Given the description of an element on the screen output the (x, y) to click on. 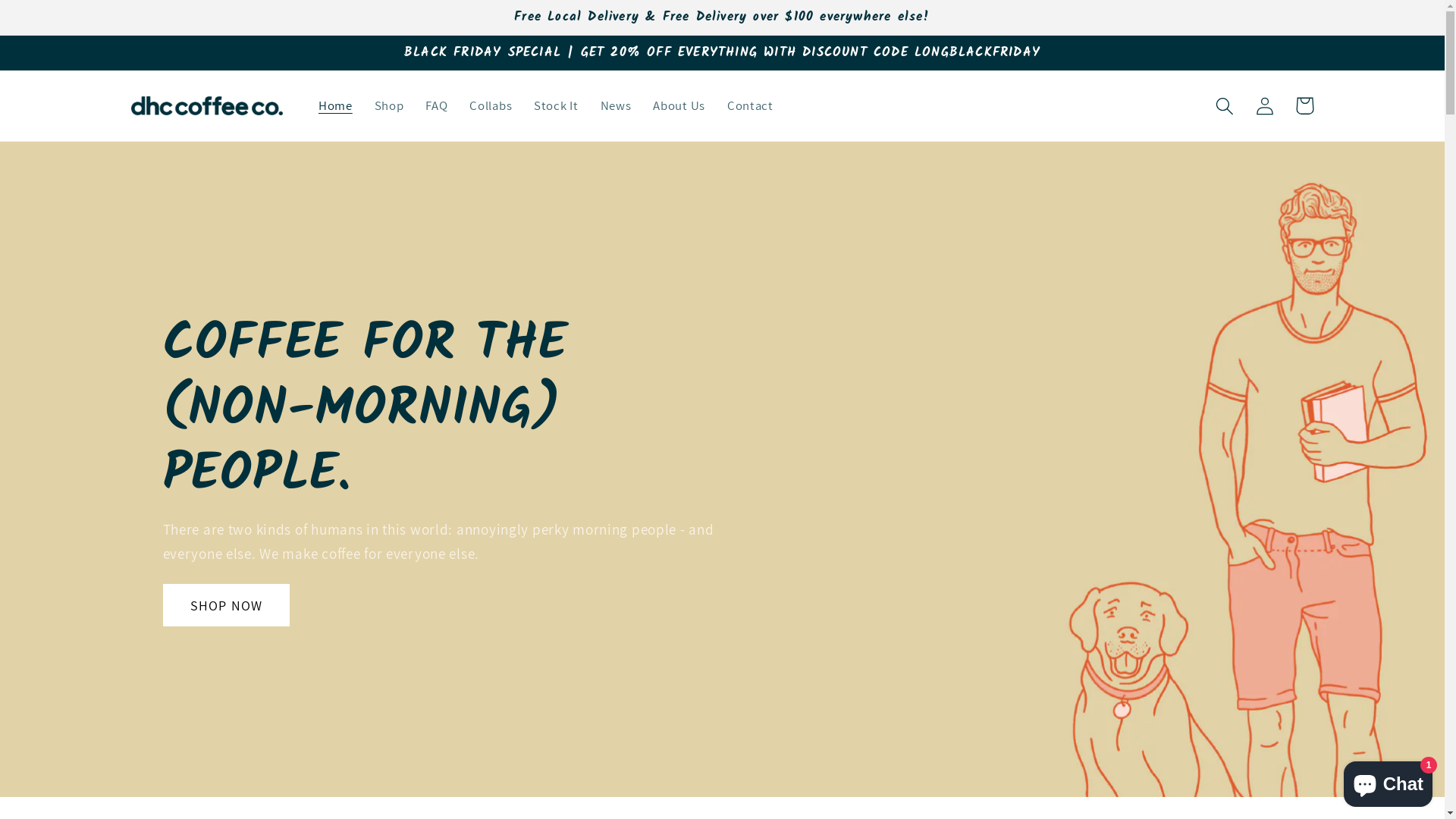
Home Element type: text (335, 106)
About Us Element type: text (679, 106)
Stock It Element type: text (556, 106)
Contact Element type: text (749, 106)
Collabs Element type: text (490, 106)
FAQ Element type: text (436, 106)
News Element type: text (615, 106)
SHOP NOW Element type: text (225, 604)
Cart Element type: text (1304, 105)
Log in Element type: text (1264, 105)
Shopify online store chat Element type: hover (1388, 780)
Shop Element type: text (388, 106)
